Given the description of an element on the screen output the (x, y) to click on. 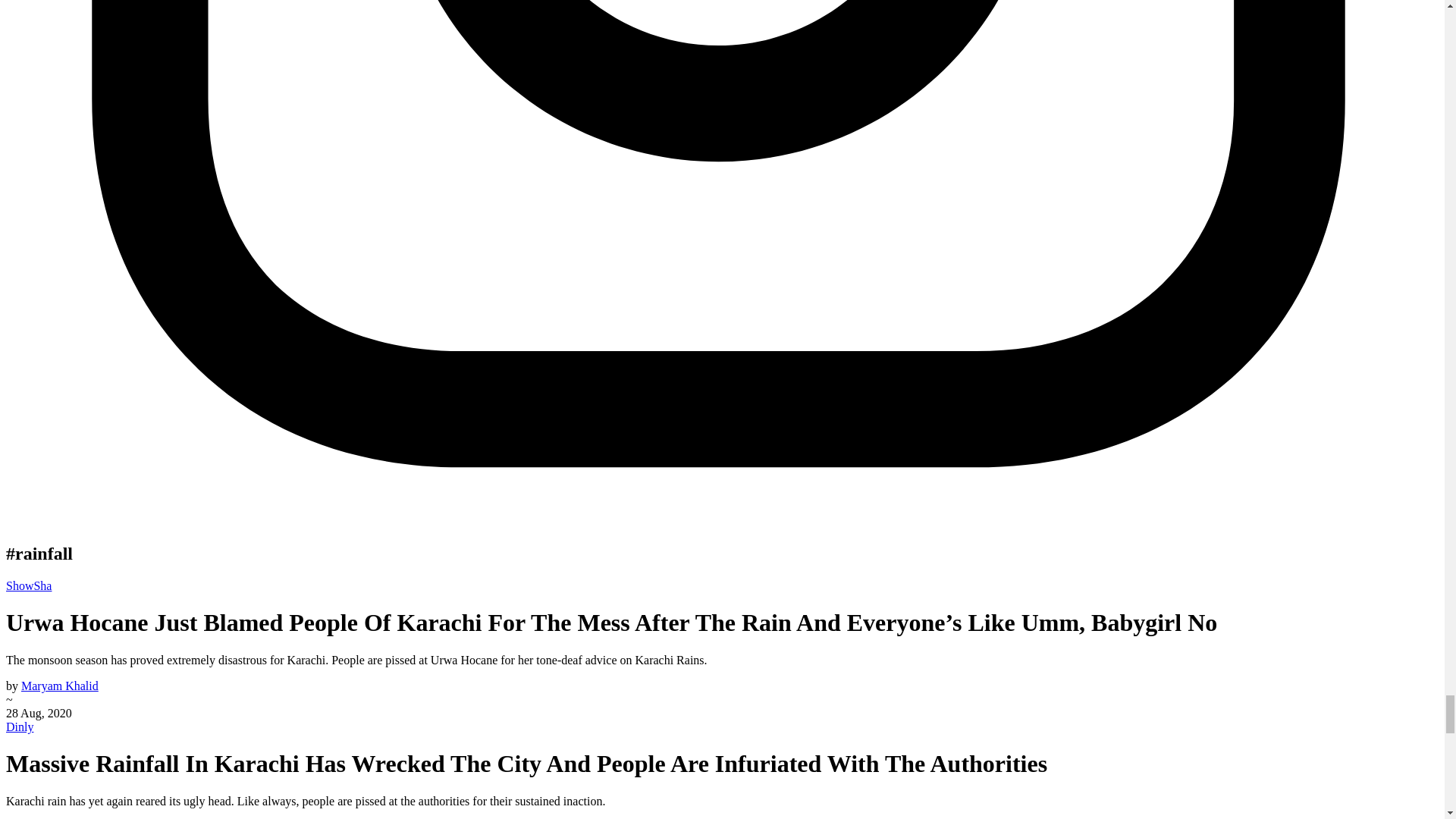
Maryam Khalid (60, 685)
ShowSha (27, 585)
Dinly (19, 726)
